Given the description of an element on the screen output the (x, y) to click on. 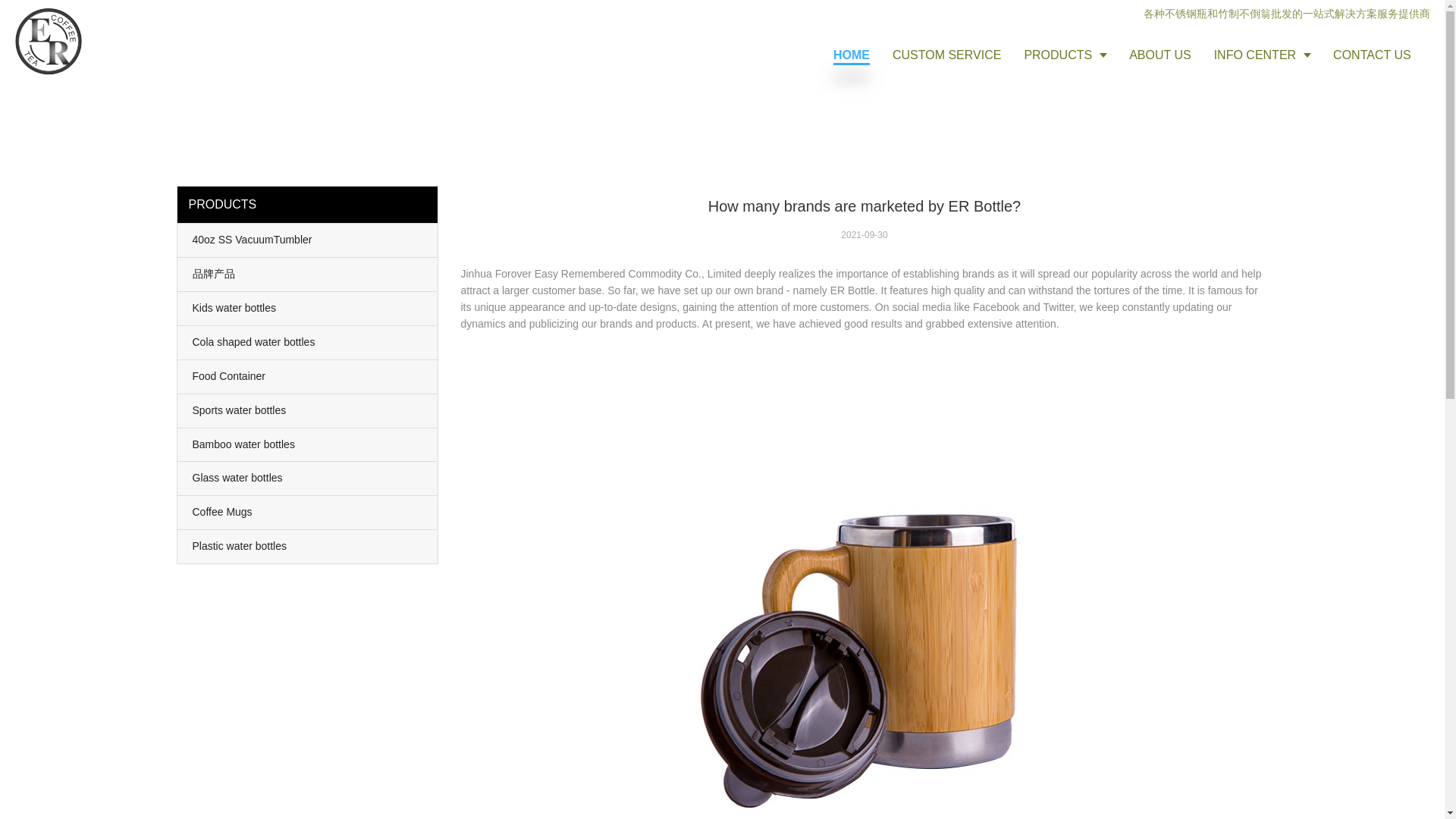
Glass water bottles (307, 478)
Plastic water bottles (307, 546)
Sports water bottles (307, 410)
Cola shaped water bottles (307, 342)
PRODUCTS (1064, 55)
Kids water bottles (307, 308)
Food Container (307, 376)
40oz SS VacuumTumbler (307, 240)
ABOUT US (1160, 55)
INFO CENTER (1262, 55)
